Given the description of an element on the screen output the (x, y) to click on. 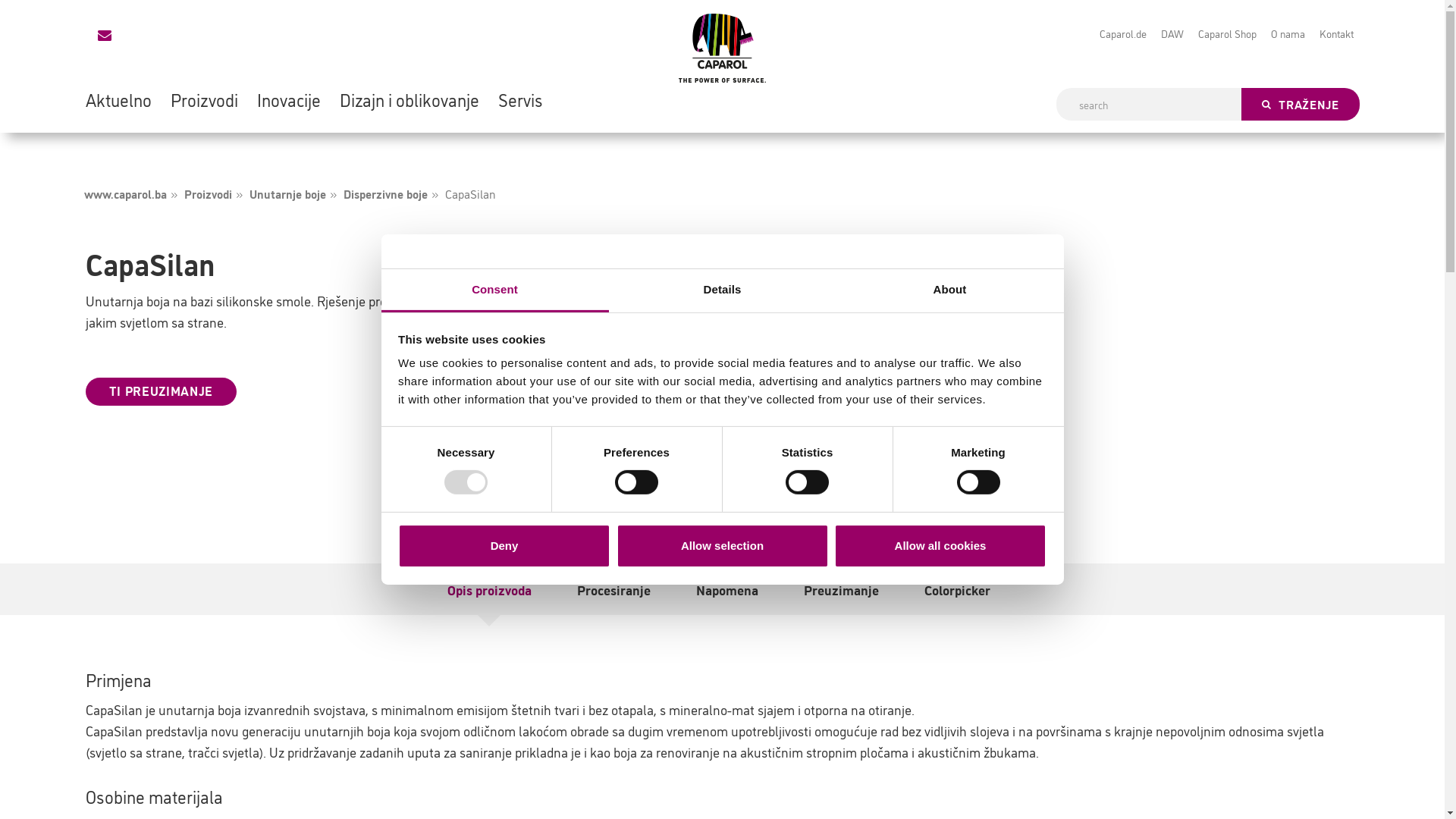
Caparol Shop Element type: text (1227, 32)
Napomena Element type: text (727, 589)
Consent Element type: text (494, 290)
Opis proizvoda Element type: text (489, 589)
Caparol Element type: hover (721, 47)
Colorpicker Element type: text (956, 589)
DAW Element type: text (1171, 32)
Inovacije Element type: text (288, 98)
Procesiranje Element type: text (612, 589)
O nama Element type: text (1287, 32)
Kontakt Element type: text (1336, 32)
Caparol.de Element type: text (1122, 32)
Aktuelno Element type: text (117, 98)
Unutarnje boje Element type: text (285, 193)
About Element type: text (949, 290)
Proizvodi Element type: text (205, 193)
Allow selection Element type: text (721, 545)
Deny Element type: text (504, 545)
Preuzimanje Element type: text (840, 589)
Details Element type: text (721, 290)
Proizvodi Element type: text (203, 98)
Servis Element type: text (519, 98)
www.caparol.ba Element type: text (124, 193)
Disperzivne boje Element type: text (382, 193)
Dizajn i oblikovanje Element type: text (409, 98)
TI PREUZIMANJE Element type: text (160, 391)
Allow all cookies Element type: text (940, 545)
